Given the description of an element on the screen output the (x, y) to click on. 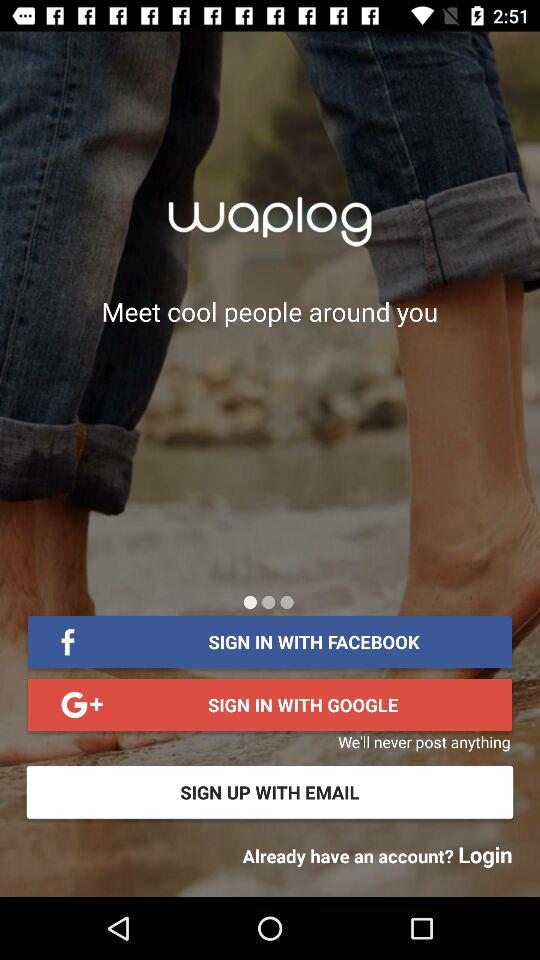
select screen (286, 602)
